Given the description of an element on the screen output the (x, y) to click on. 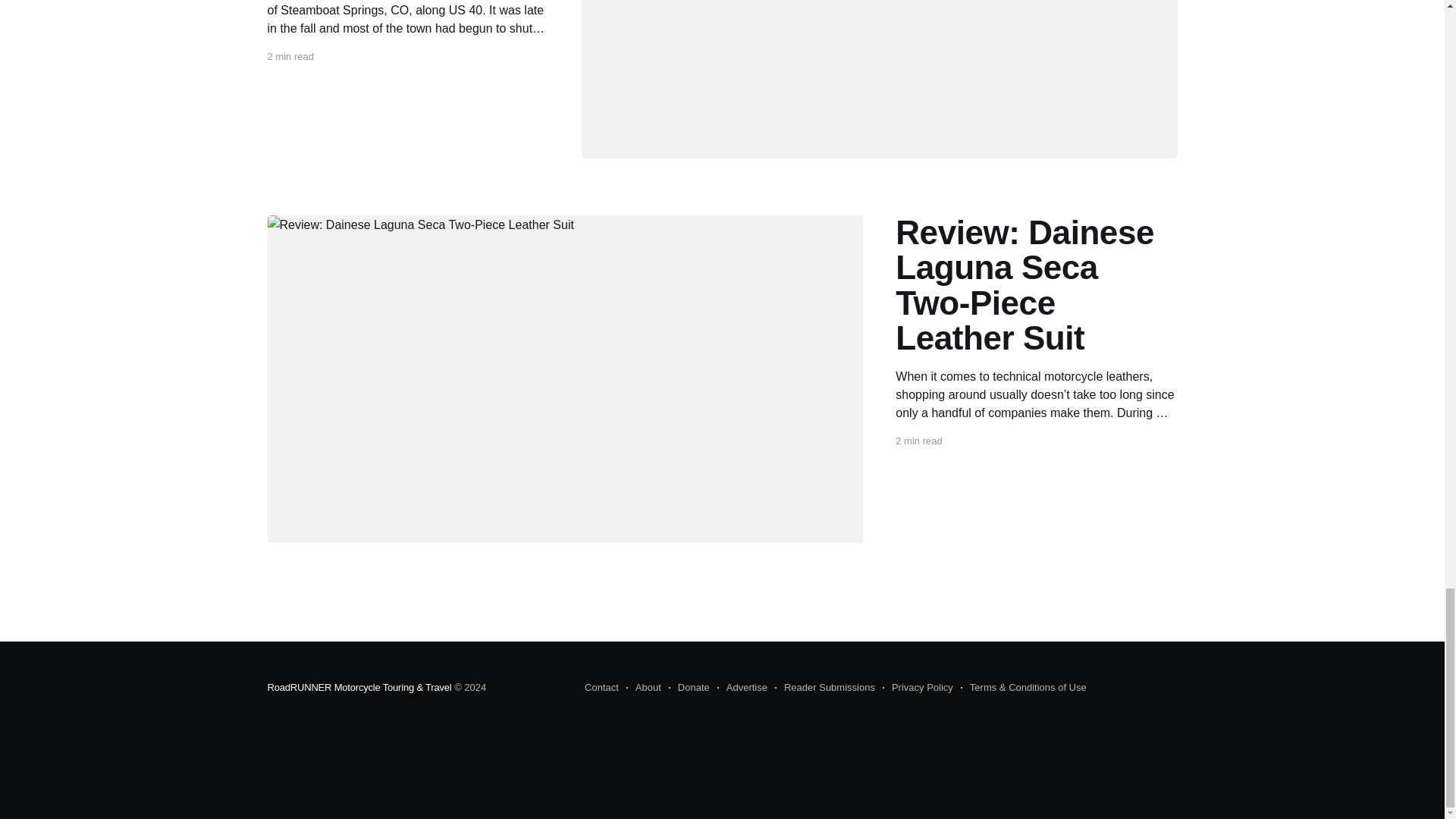
Contact (601, 687)
Reader Submissions (824, 687)
Privacy Policy (917, 687)
Advertise (742, 687)
Donate (689, 687)
About (643, 687)
